Given the description of an element on the screen output the (x, y) to click on. 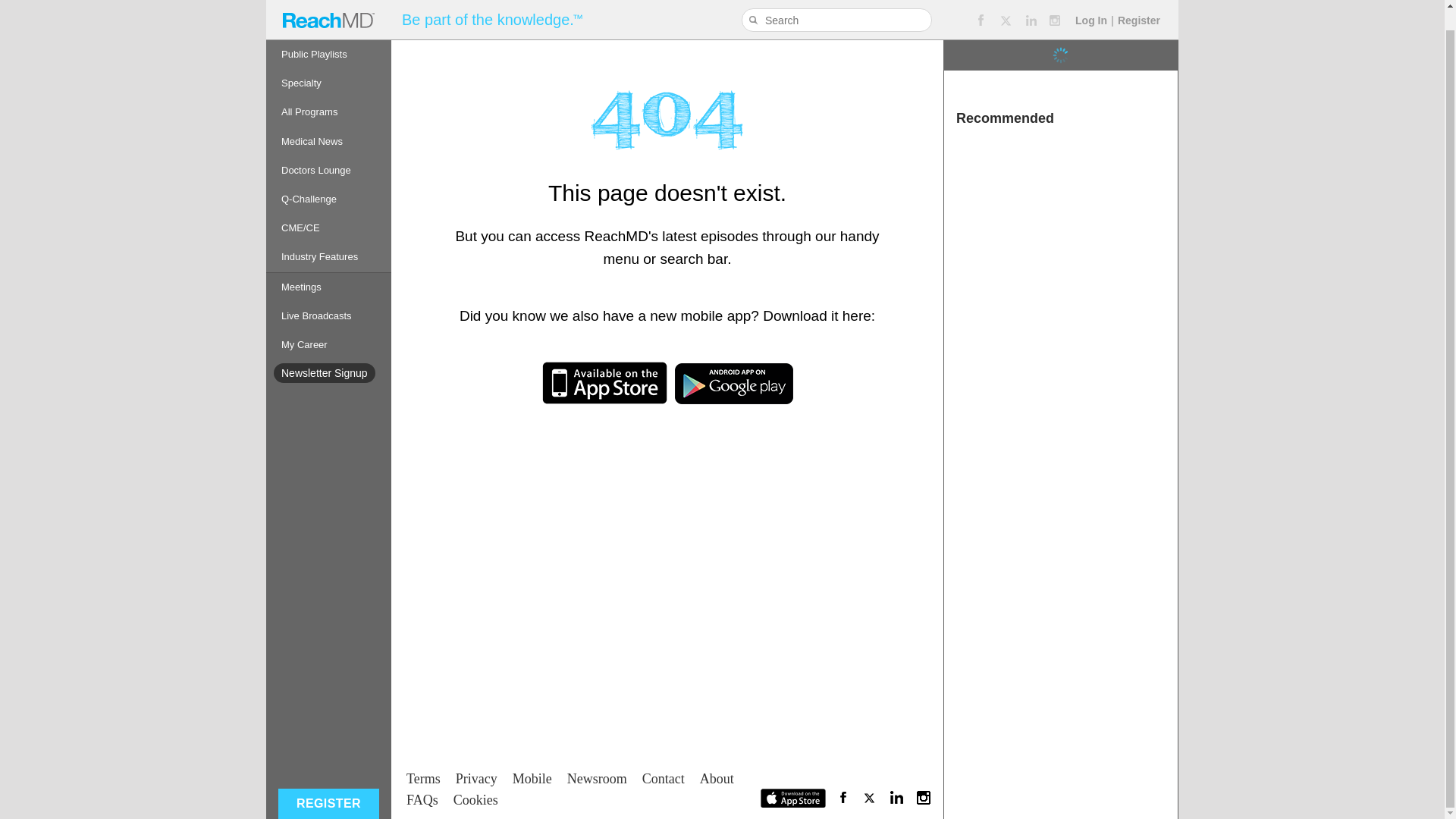
Recommended (1060, 81)
Linked in (1030, 6)
Register (1139, 3)
Log In (1090, 3)
Facebook (980, 6)
Instagram (1055, 6)
Twitter (1004, 6)
ReachMD (328, 10)
Specialty (328, 63)
Public Playlists (328, 34)
All Programs (328, 92)
Search (754, 3)
